Given the description of an element on the screen output the (x, y) to click on. 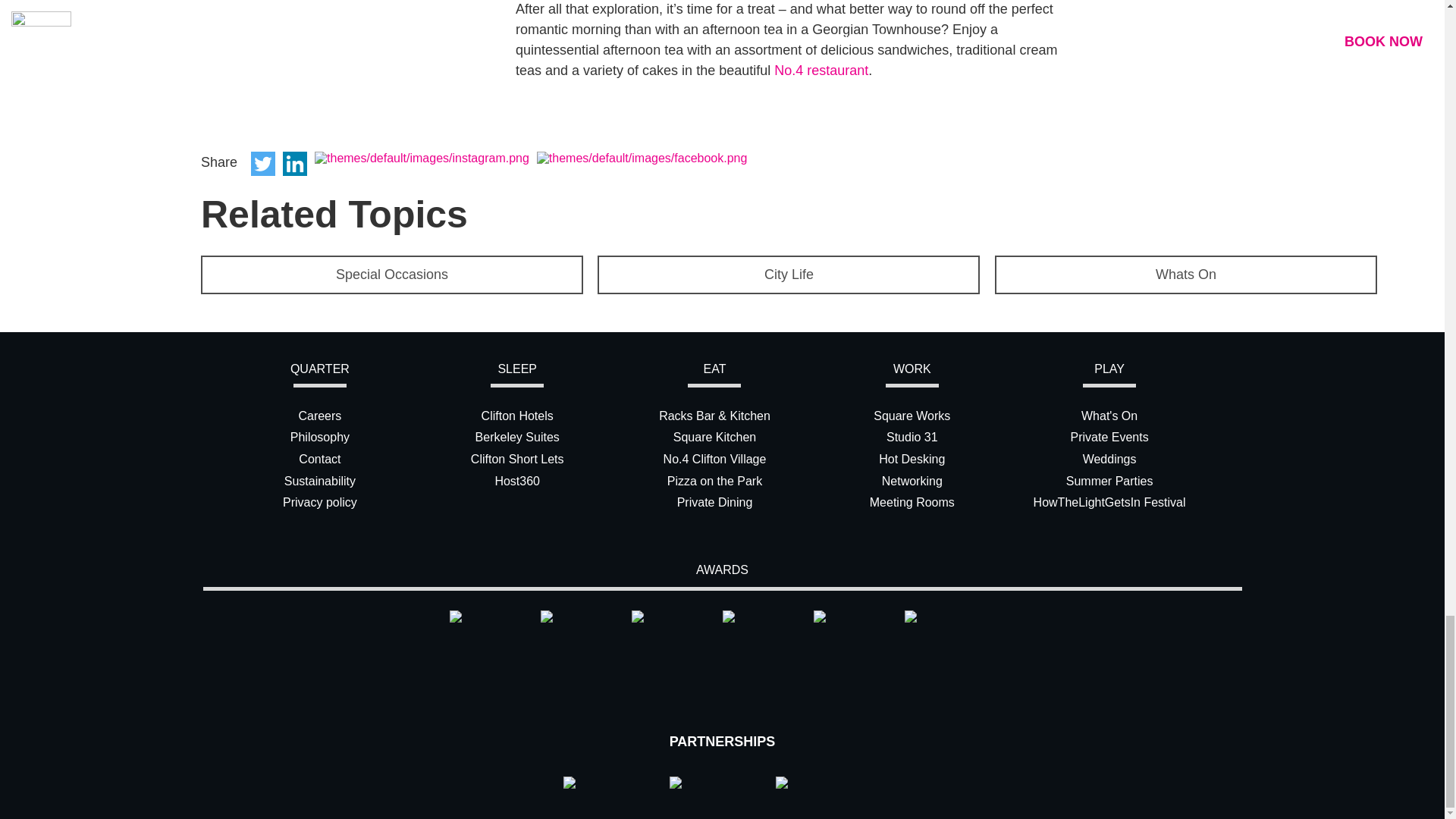
twitter (262, 163)
linkedin (294, 163)
